Given the description of an element on the screen output the (x, y) to click on. 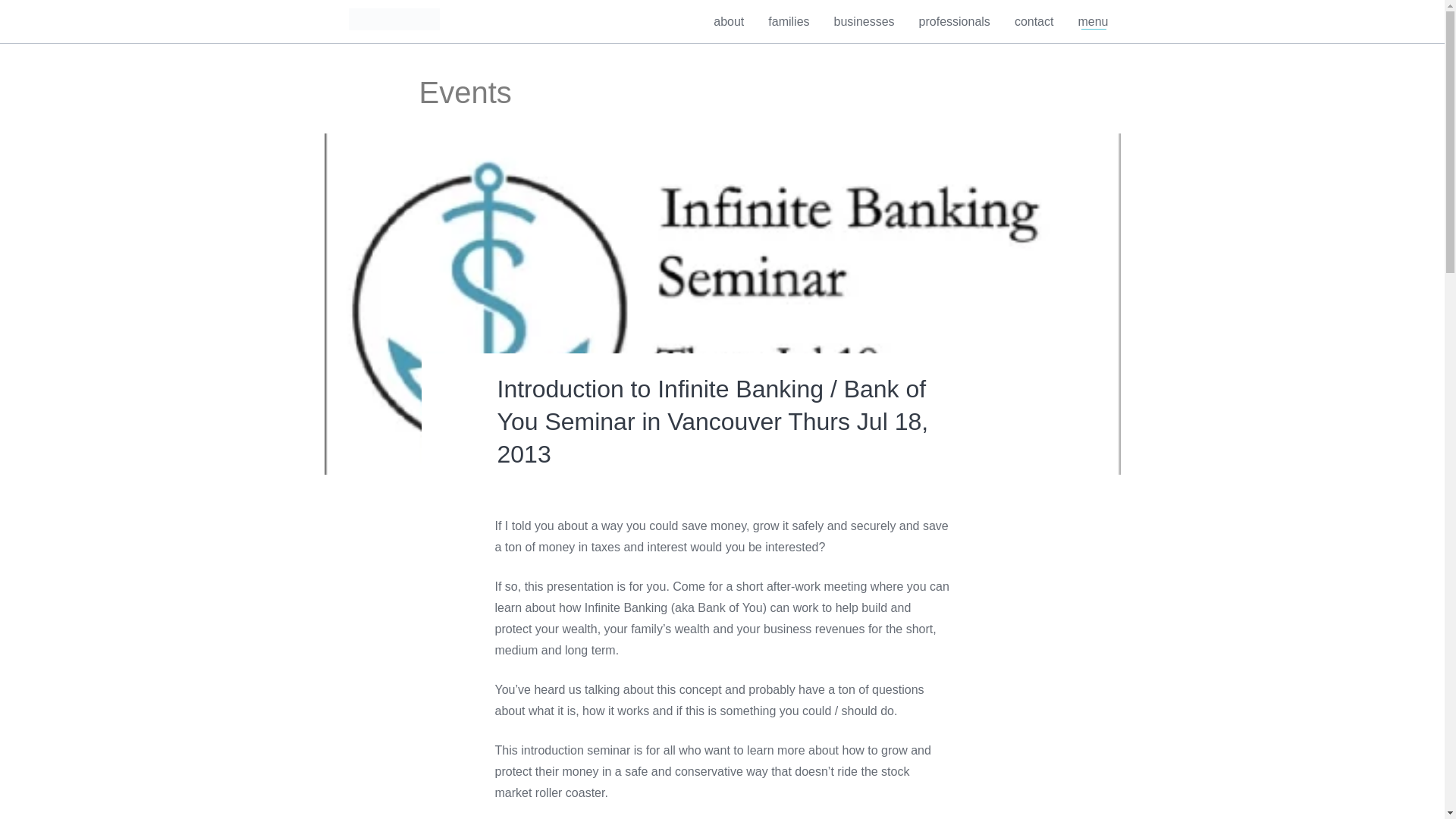
about (728, 21)
families (788, 21)
businesses (864, 21)
professionals (954, 21)
contact (1034, 21)
menu (1092, 21)
